Given the description of an element on the screen output the (x, y) to click on. 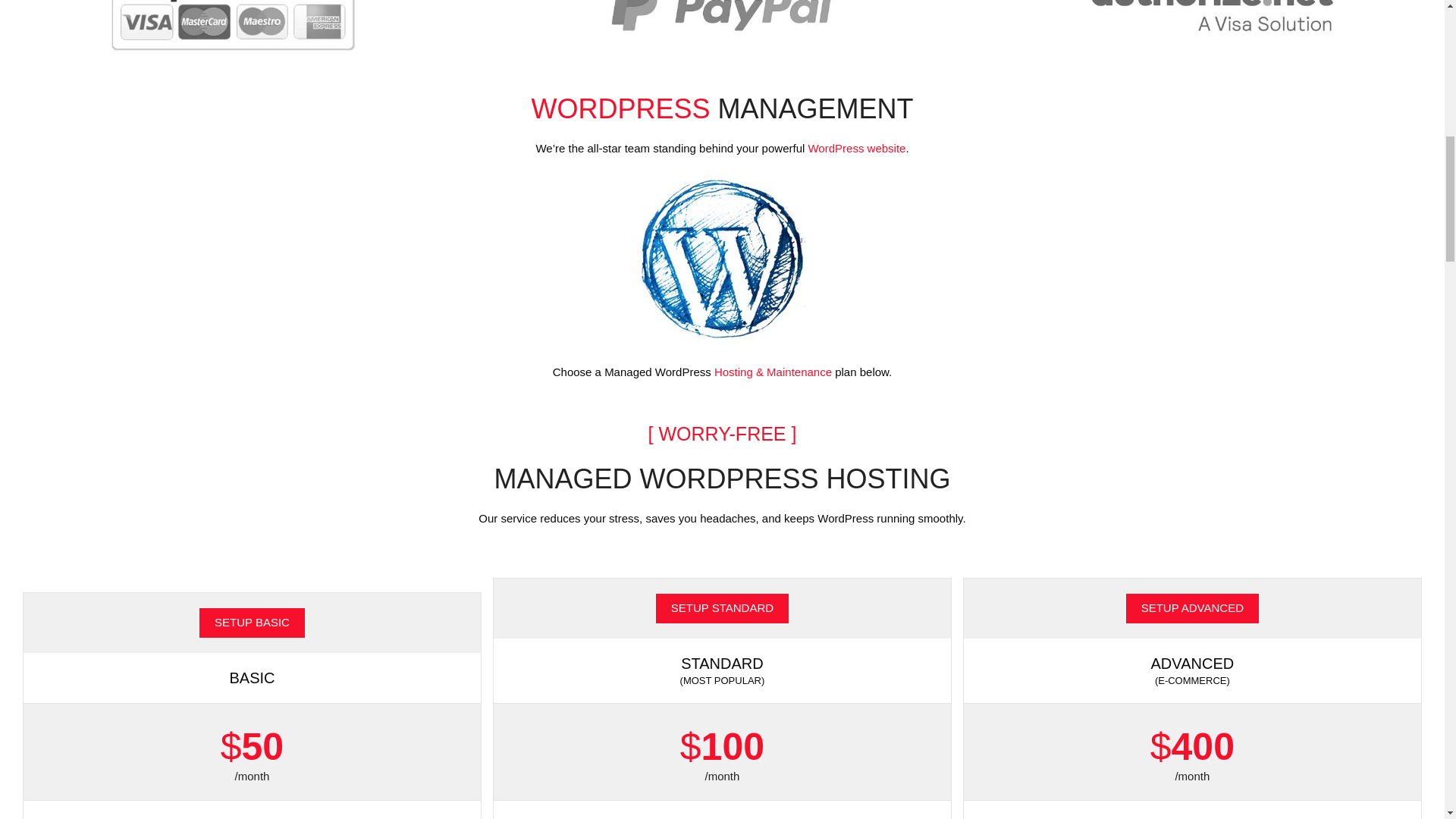
Scroll back to top (1406, 720)
SETUP BASIC (251, 623)
WordPress website (856, 147)
WORDPRESS (620, 108)
wp (722, 258)
SETUP ADVANCED (1192, 608)
SETUP STANDARD (722, 608)
